Given the description of an element on the screen output the (x, y) to click on. 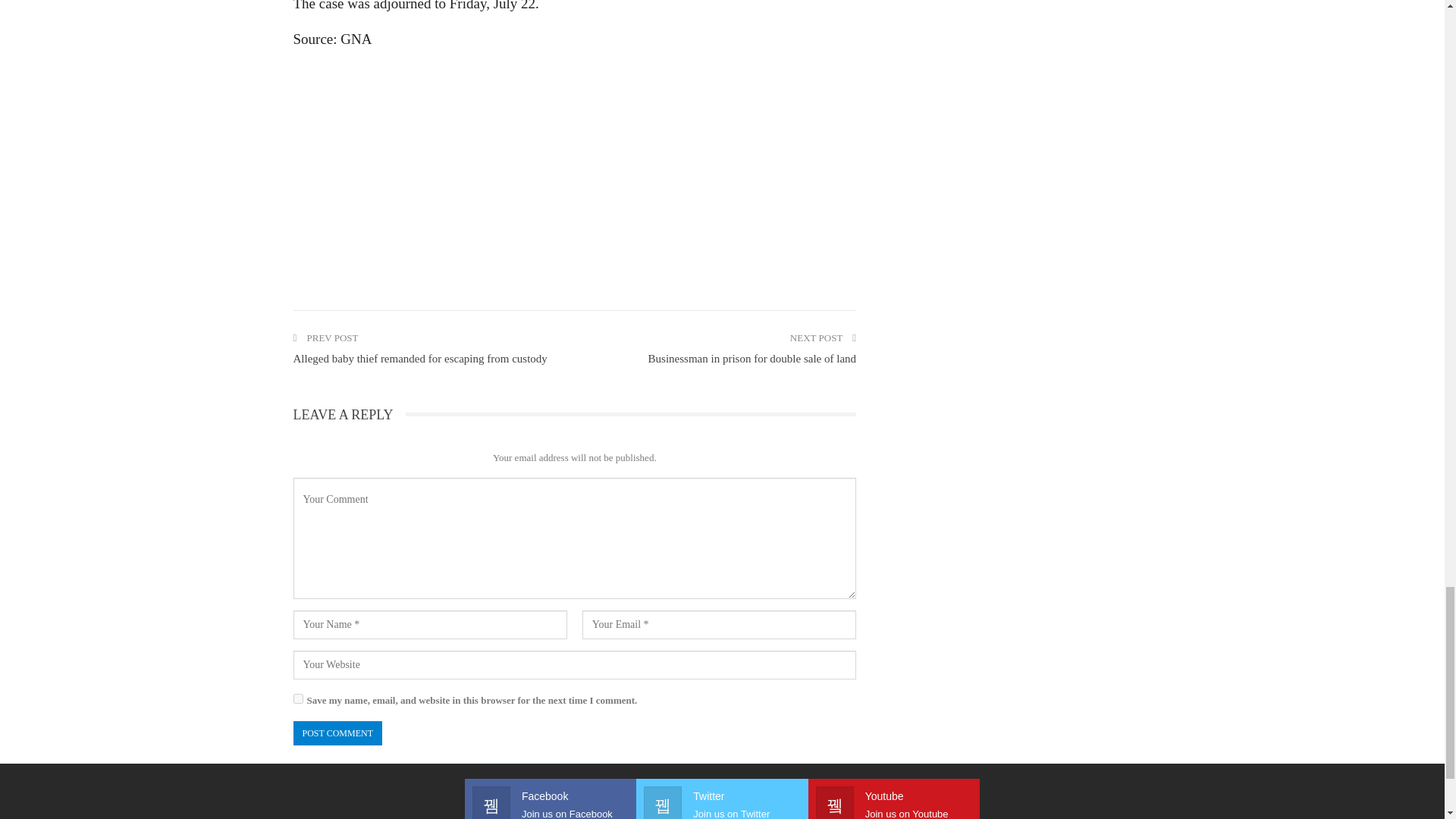
Post Comment (336, 732)
Businessman in prison for double sale of land (752, 358)
yes (297, 698)
Post Comment (336, 732)
Alleged baby thief remanded for escaping from custody (419, 358)
